Given the description of an element on the screen output the (x, y) to click on. 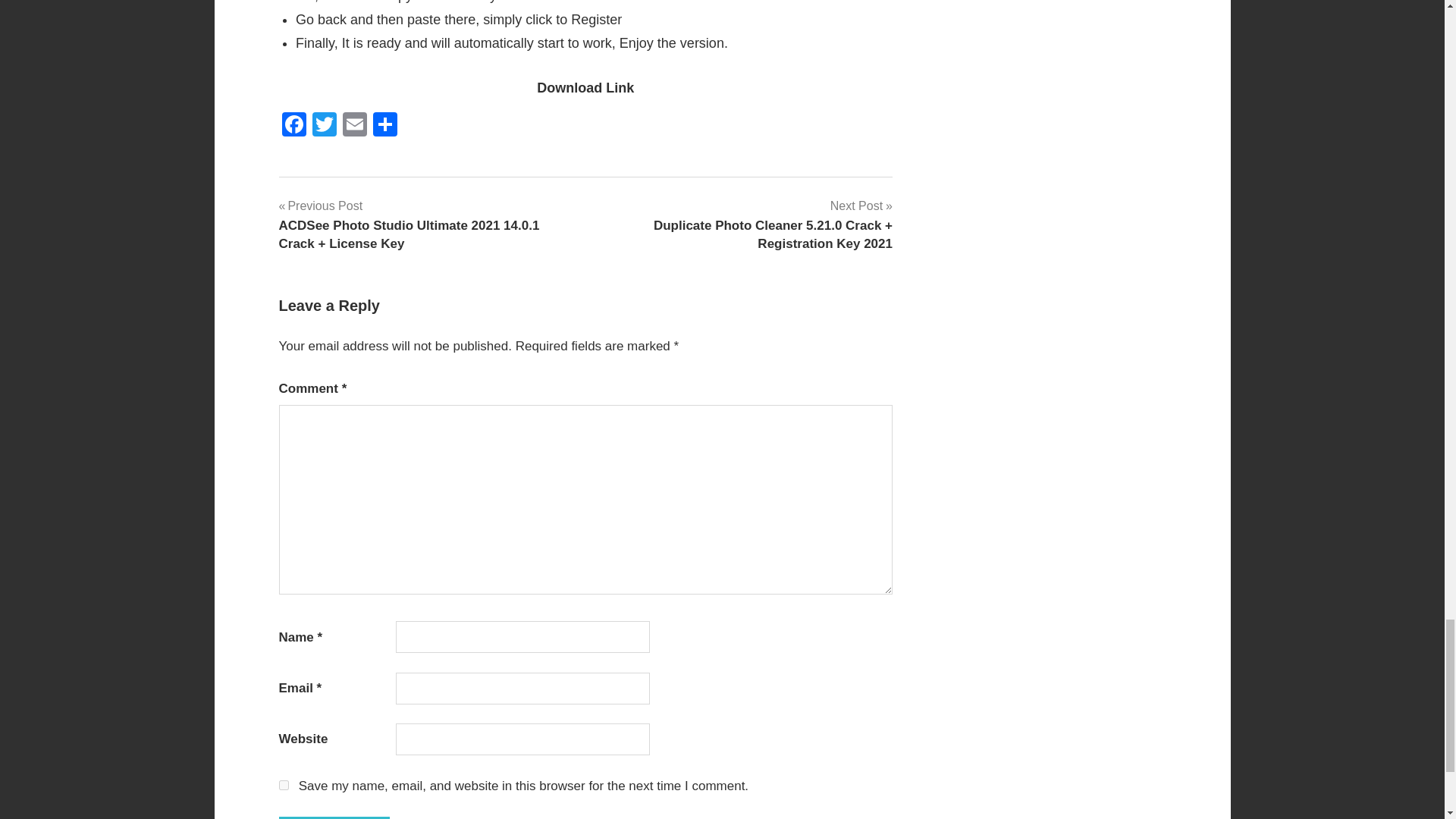
Twitter (323, 126)
Email (354, 126)
Facebook (293, 126)
Post Comment (334, 817)
Facebook (293, 126)
Post Comment (334, 817)
yes (283, 785)
Twitter (323, 126)
Email (354, 126)
